Given the description of an element on the screen output the (x, y) to click on. 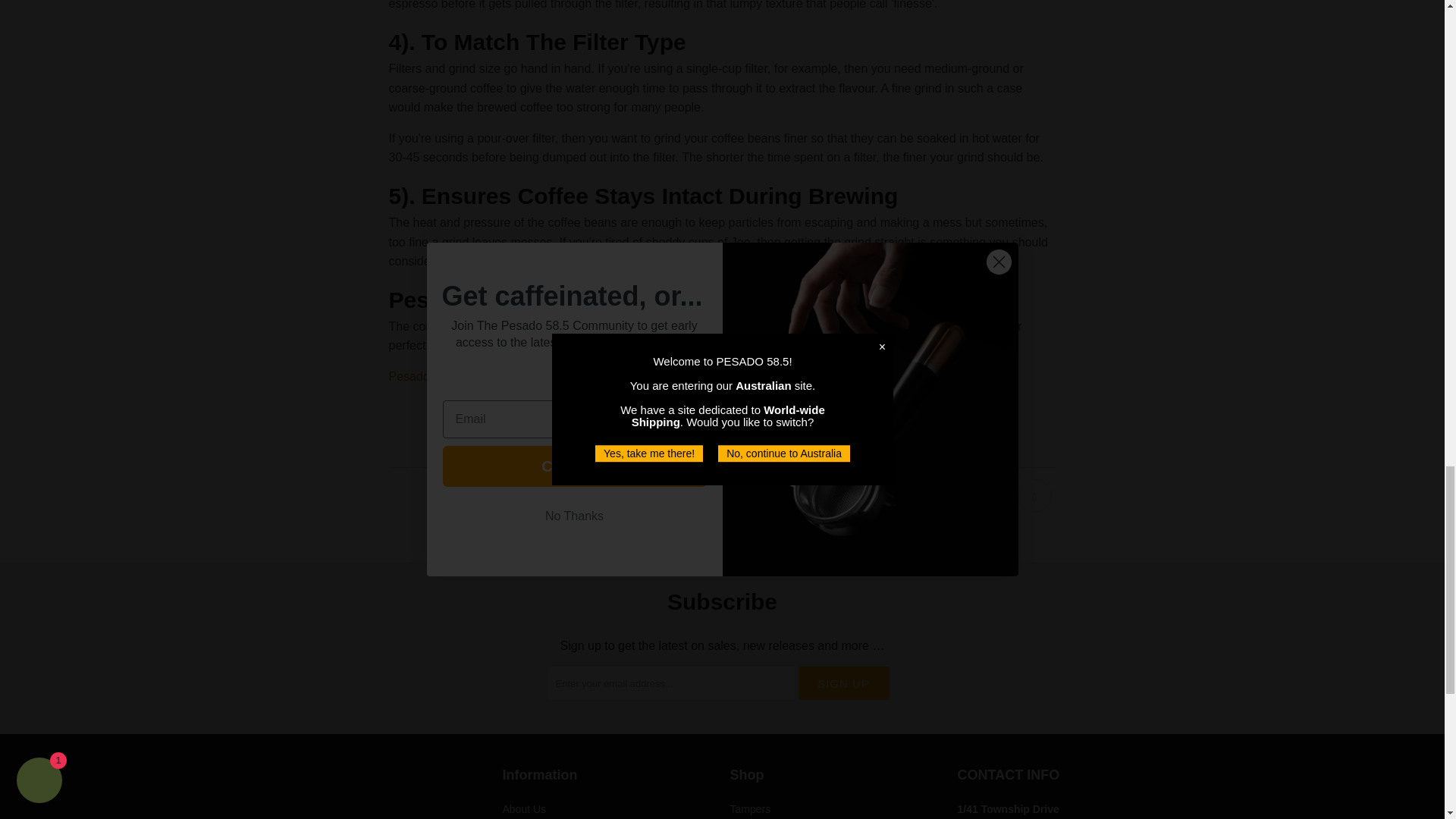
Email this to a friend (1034, 495)
Share this on Twitter (913, 495)
Sign Up (842, 683)
Share this on Facebook (952, 495)
Share this on Pinterest (993, 495)
